Given the description of an element on the screen output the (x, y) to click on. 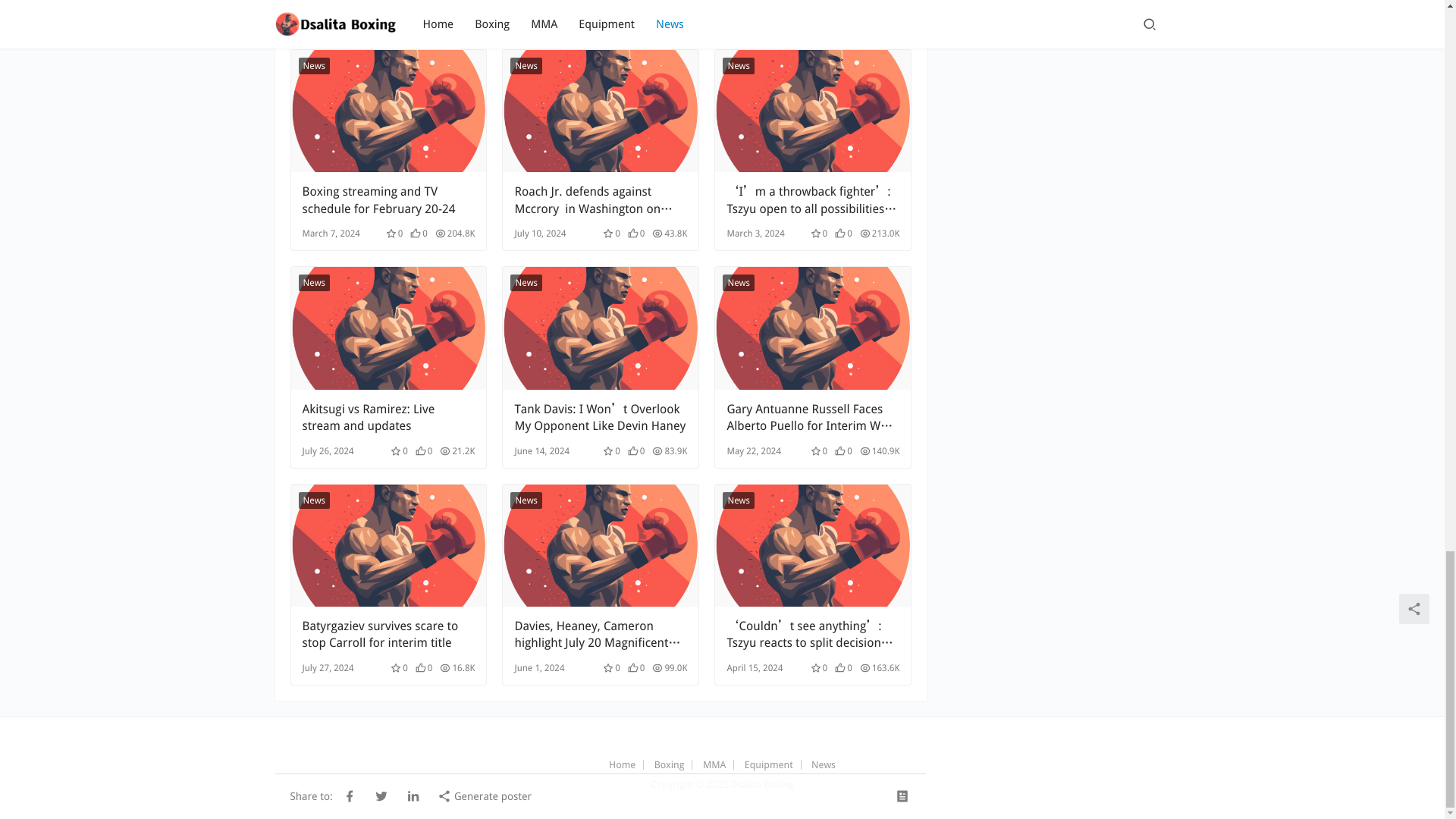
Roach Jr. defends against Mccrory  in Washington on Friday (600, 200)
Akitsugi vs Ramirez: Live stream and updates (388, 327)
News (314, 65)
News (526, 65)
Boxing streaming and TV schedule for February 20-24 (388, 110)
Akitsugi vs Ramirez: Live stream and updates (387, 417)
Boxing streaming and TV schedule for February 20-24 (387, 200)
Boxing streaming and TV schedule for February 20-24 (387, 200)
